Given the description of an element on the screen output the (x, y) to click on. 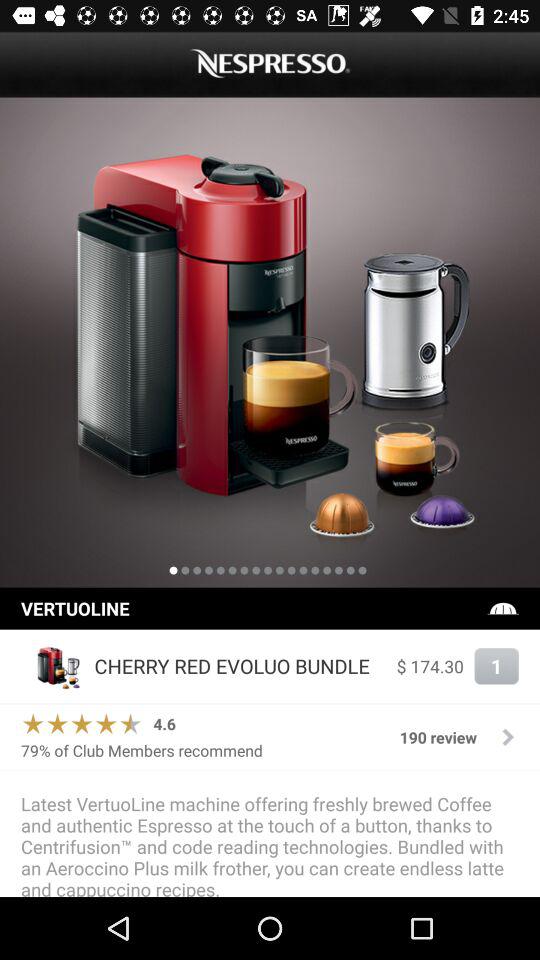
select item to the right of $ 174.30 (496, 666)
